Given the description of an element on the screen output the (x, y) to click on. 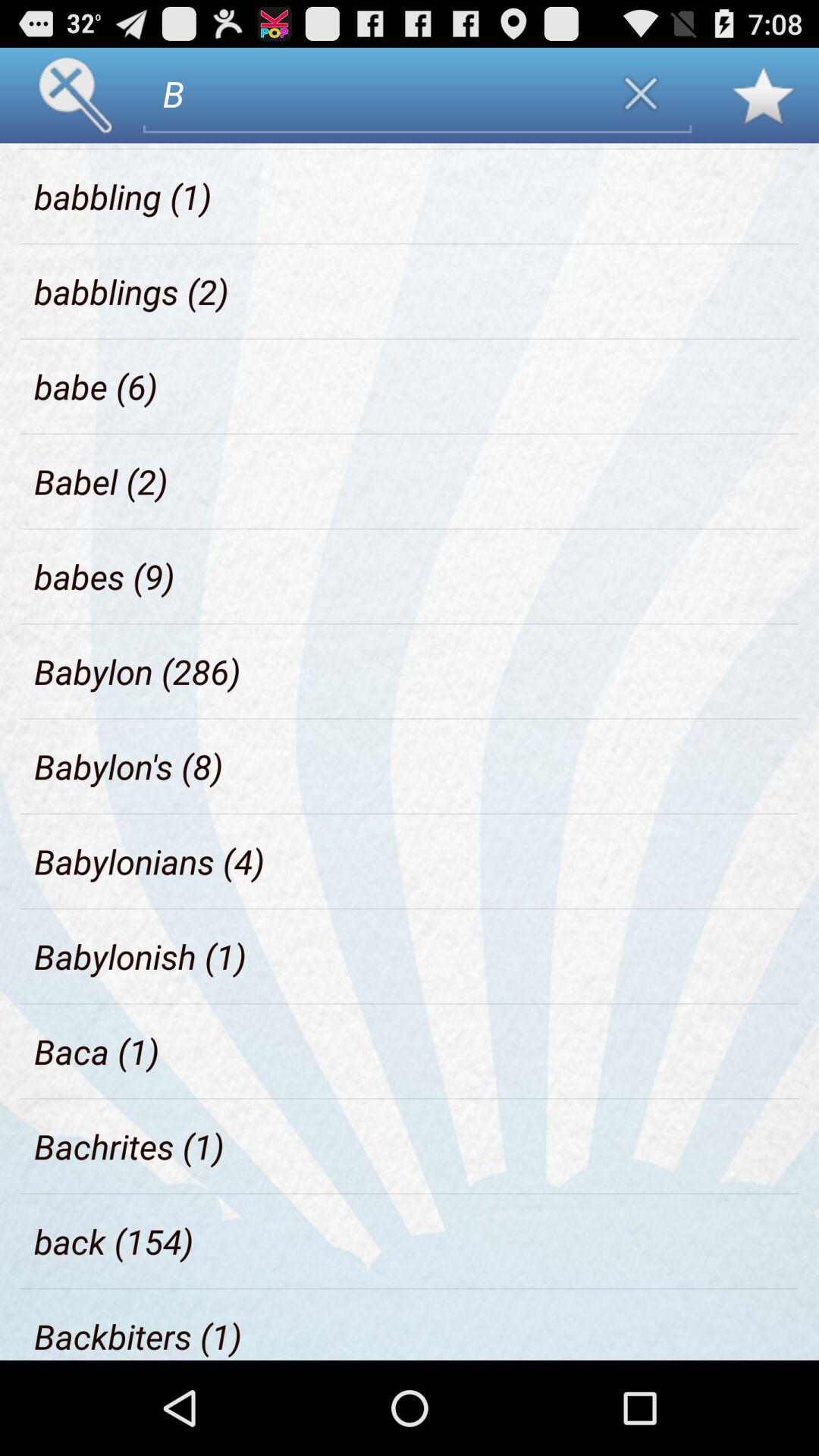
swipe to babe (6) app (96, 386)
